Given the description of an element on the screen output the (x, y) to click on. 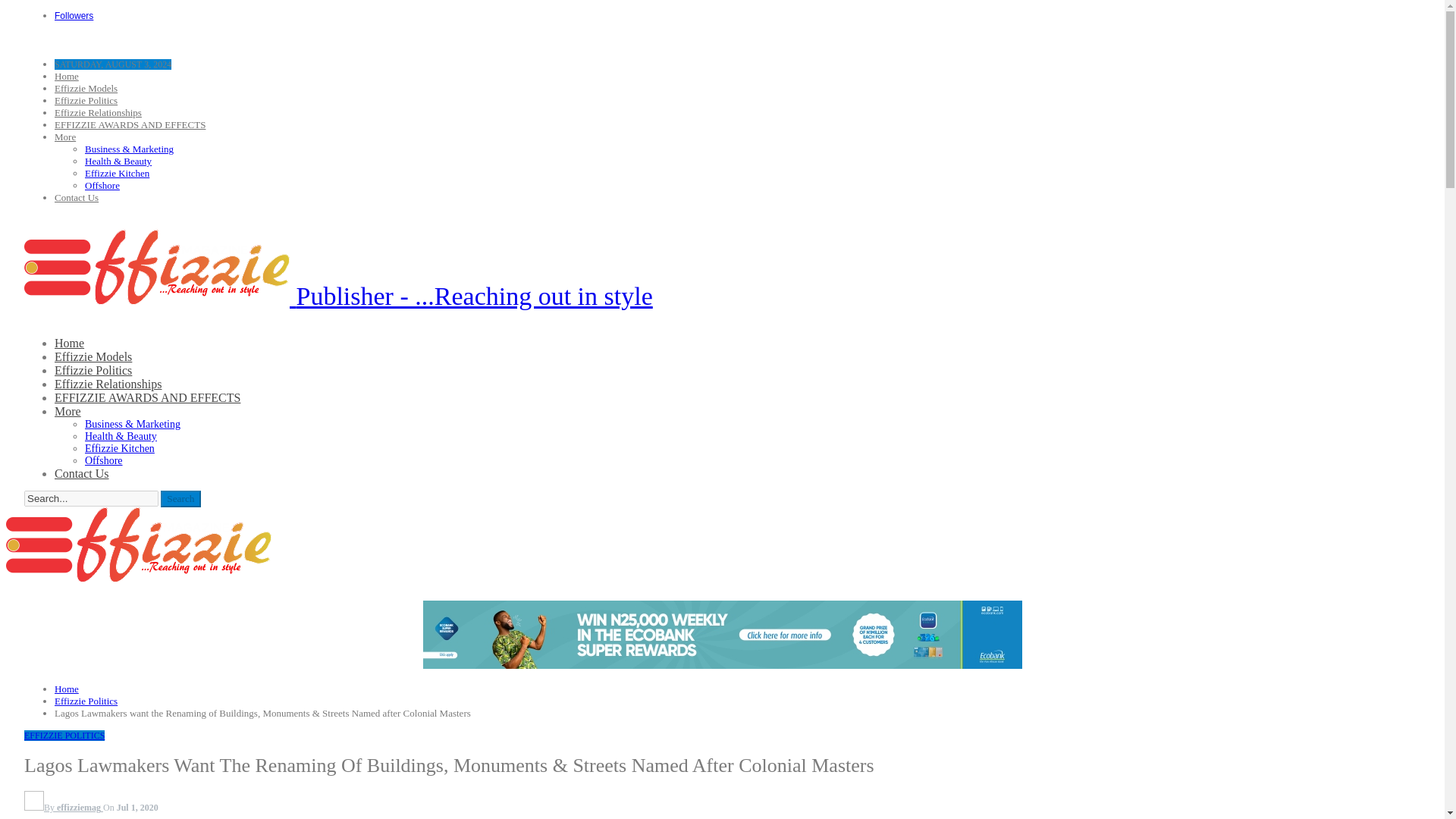
By effizziemag (63, 807)
Effizzie Politics (86, 100)
Effizzie Models (86, 88)
Search (180, 498)
Home (69, 342)
Effizzie Relationships (98, 112)
Effizzie Kitchen (116, 173)
Followers (74, 15)
Effizzie Politics (93, 369)
More (68, 410)
